Given the description of an element on the screen output the (x, y) to click on. 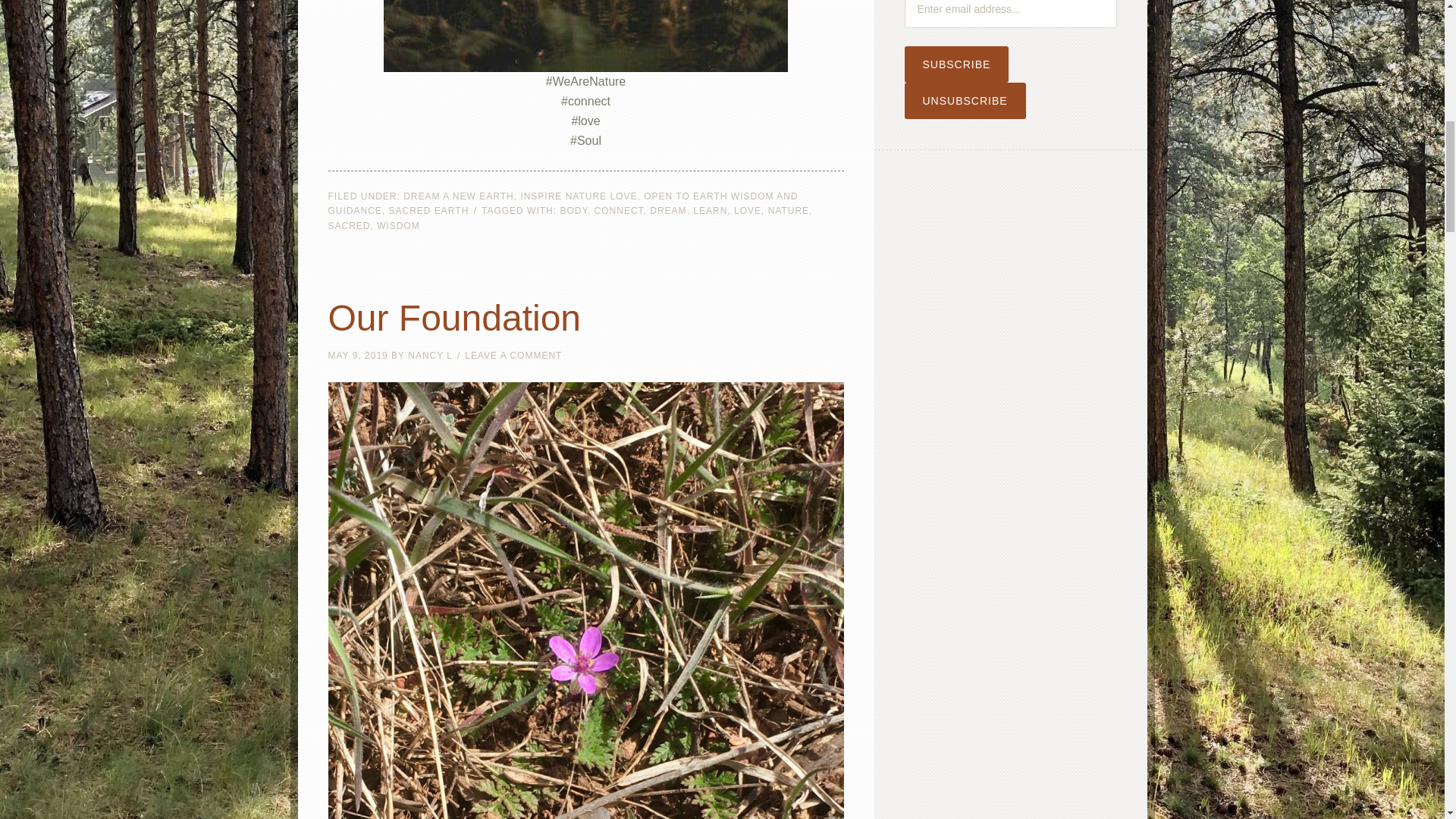
NATURE (788, 210)
SACRED (348, 225)
SACRED EARTH (428, 210)
LEAVE A COMMENT (513, 355)
CONNECT (618, 210)
BODY (572, 210)
LEARN (709, 210)
INSPIRE NATURE LOVE (578, 195)
Our Foundation (453, 318)
OPEN TO EARTH WISDOM AND GUIDANCE (562, 203)
